Given the description of an element on the screen output the (x, y) to click on. 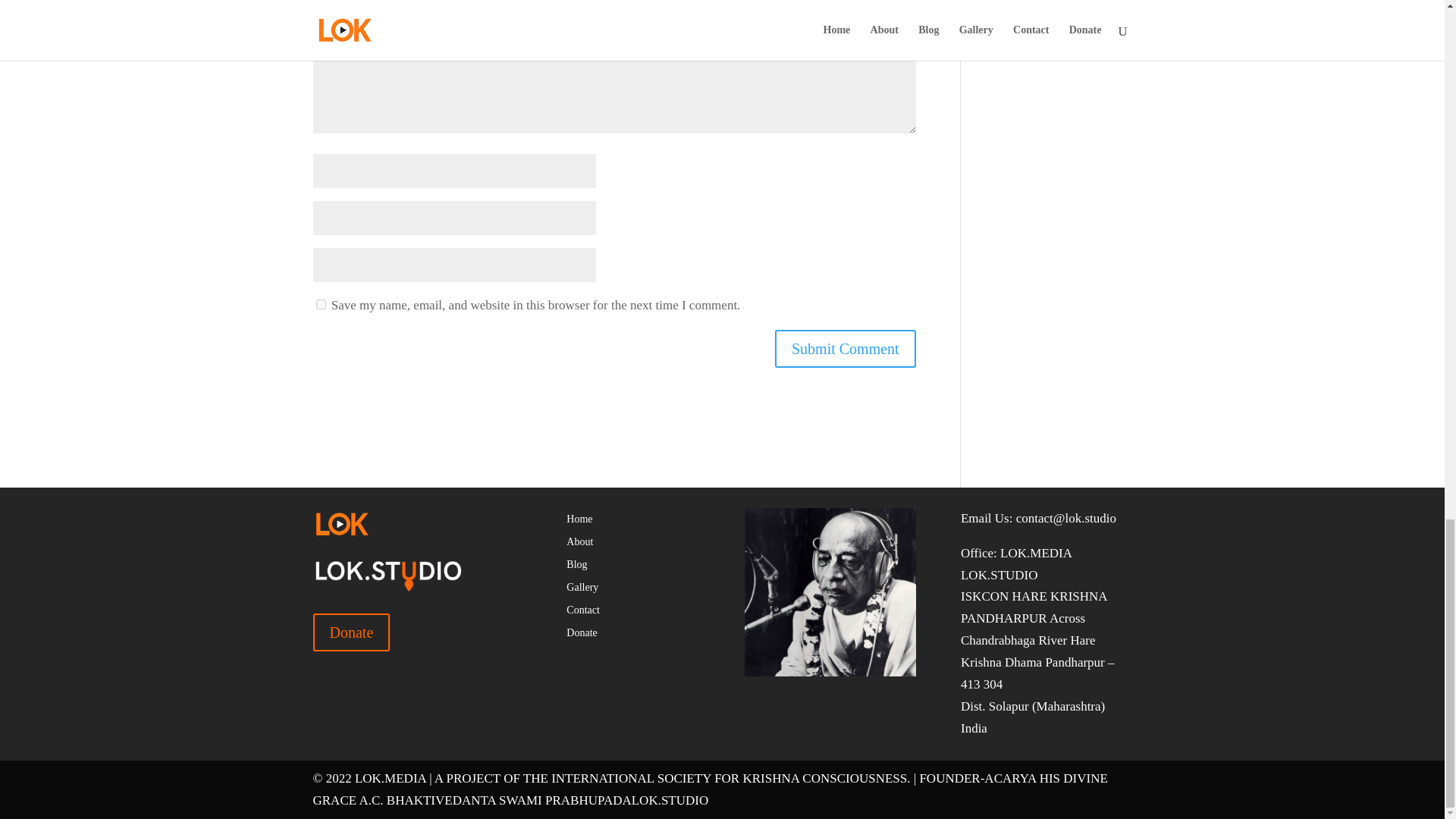
Submit Comment (844, 348)
yes (319, 304)
Blog (576, 567)
Donate (351, 632)
Submit Comment (844, 348)
Home (579, 522)
Gallery (582, 590)
Logo white button (341, 523)
About (579, 545)
Prabhupada in Studio (829, 591)
Donate (581, 636)
Contact (582, 613)
